Given the description of an element on the screen output the (x, y) to click on. 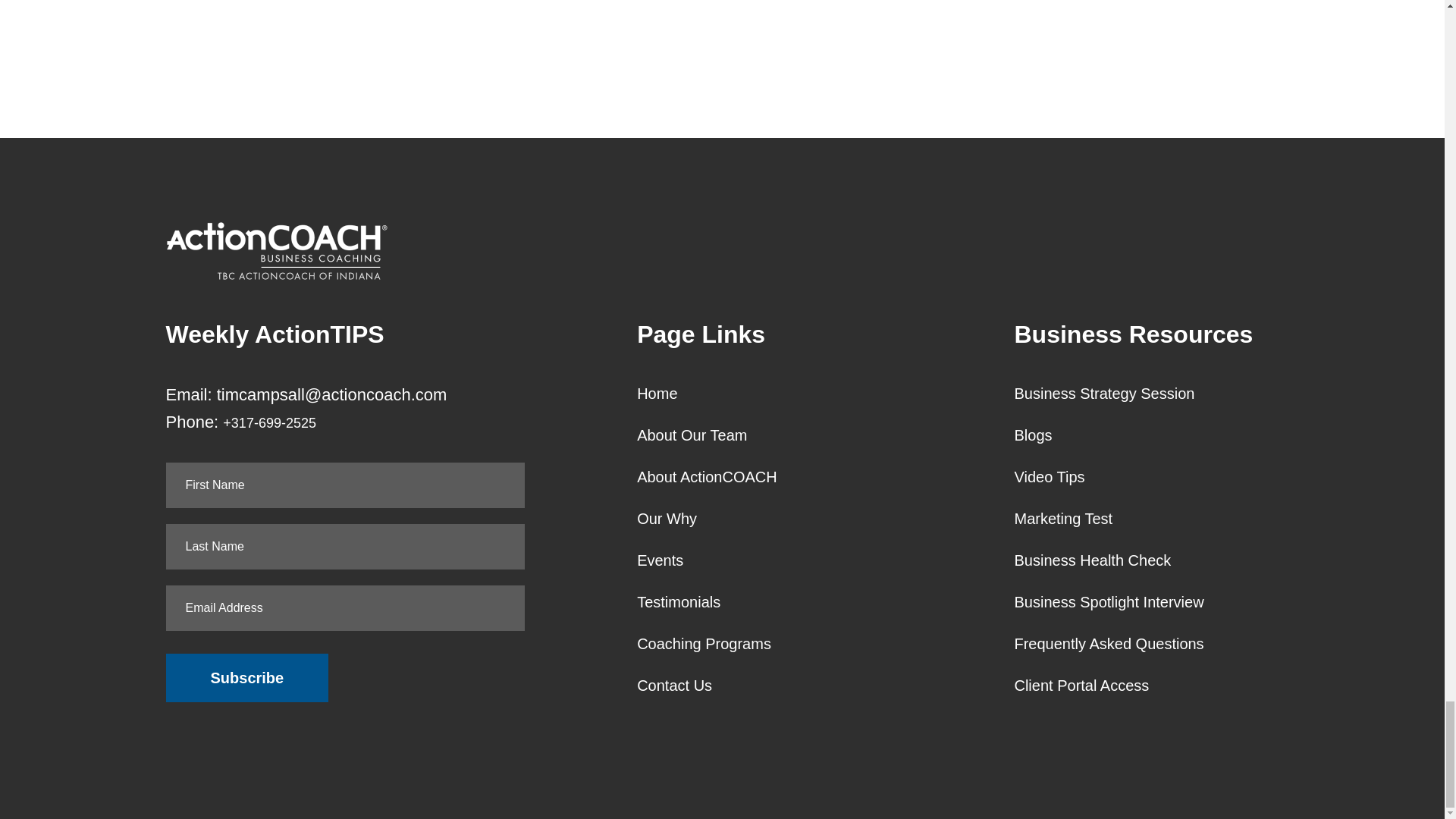
Subscribe (247, 677)
